Given the description of an element on the screen output the (x, y) to click on. 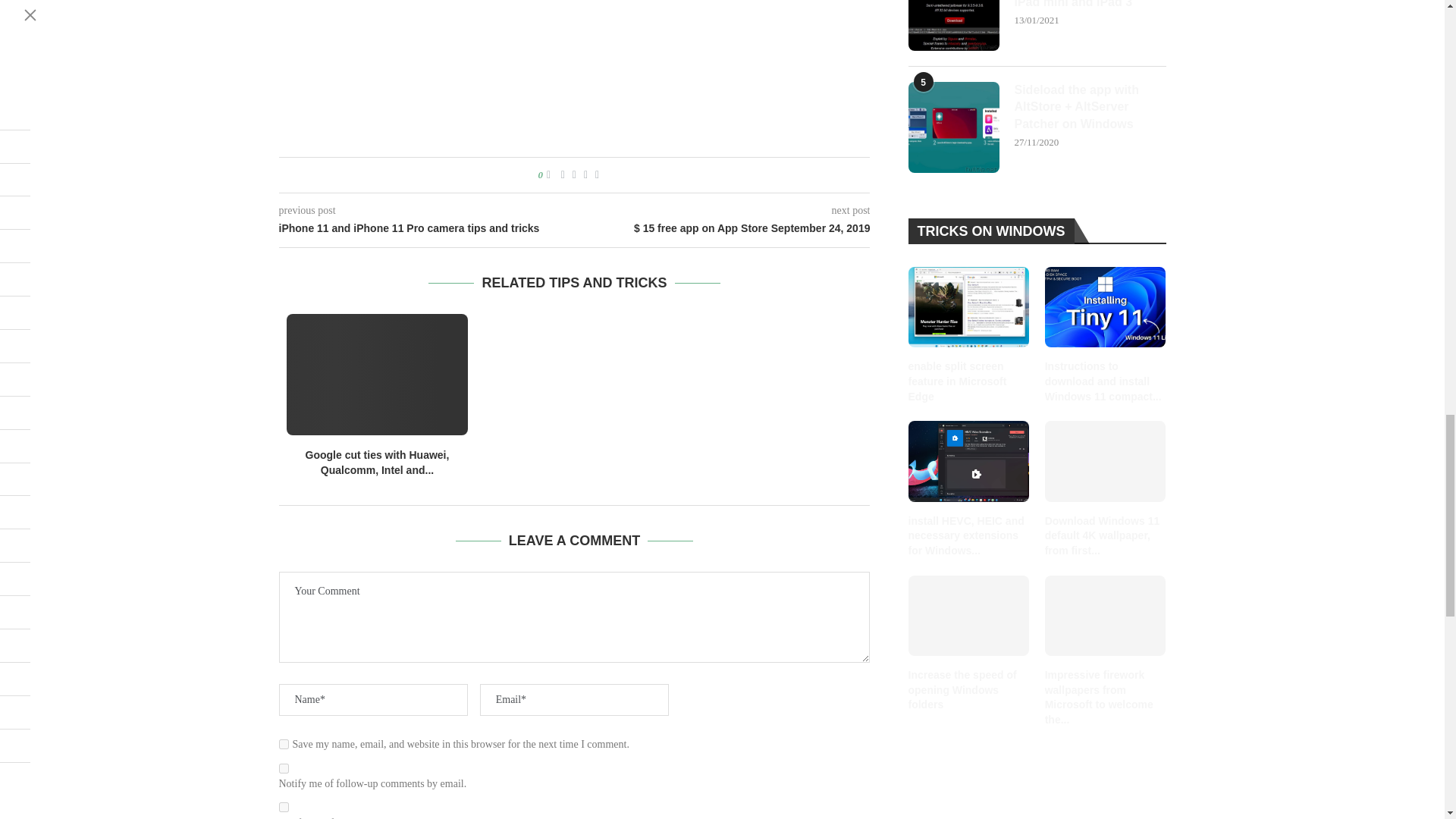
subscribe (283, 807)
subscribe (283, 768)
yes (283, 744)
